Given the description of an element on the screen output the (x, y) to click on. 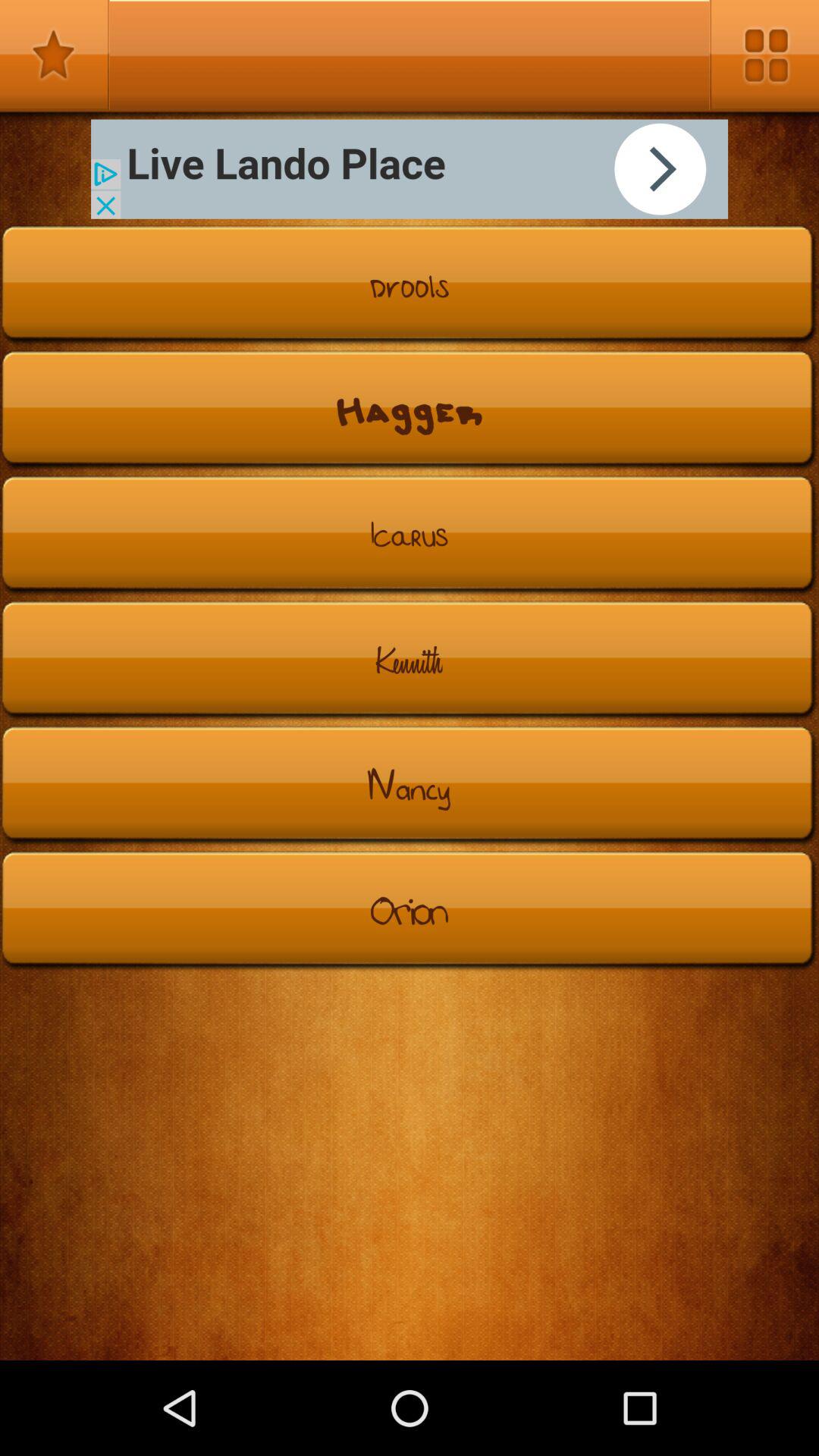
advertisements image (409, 168)
